Given the description of an element on the screen output the (x, y) to click on. 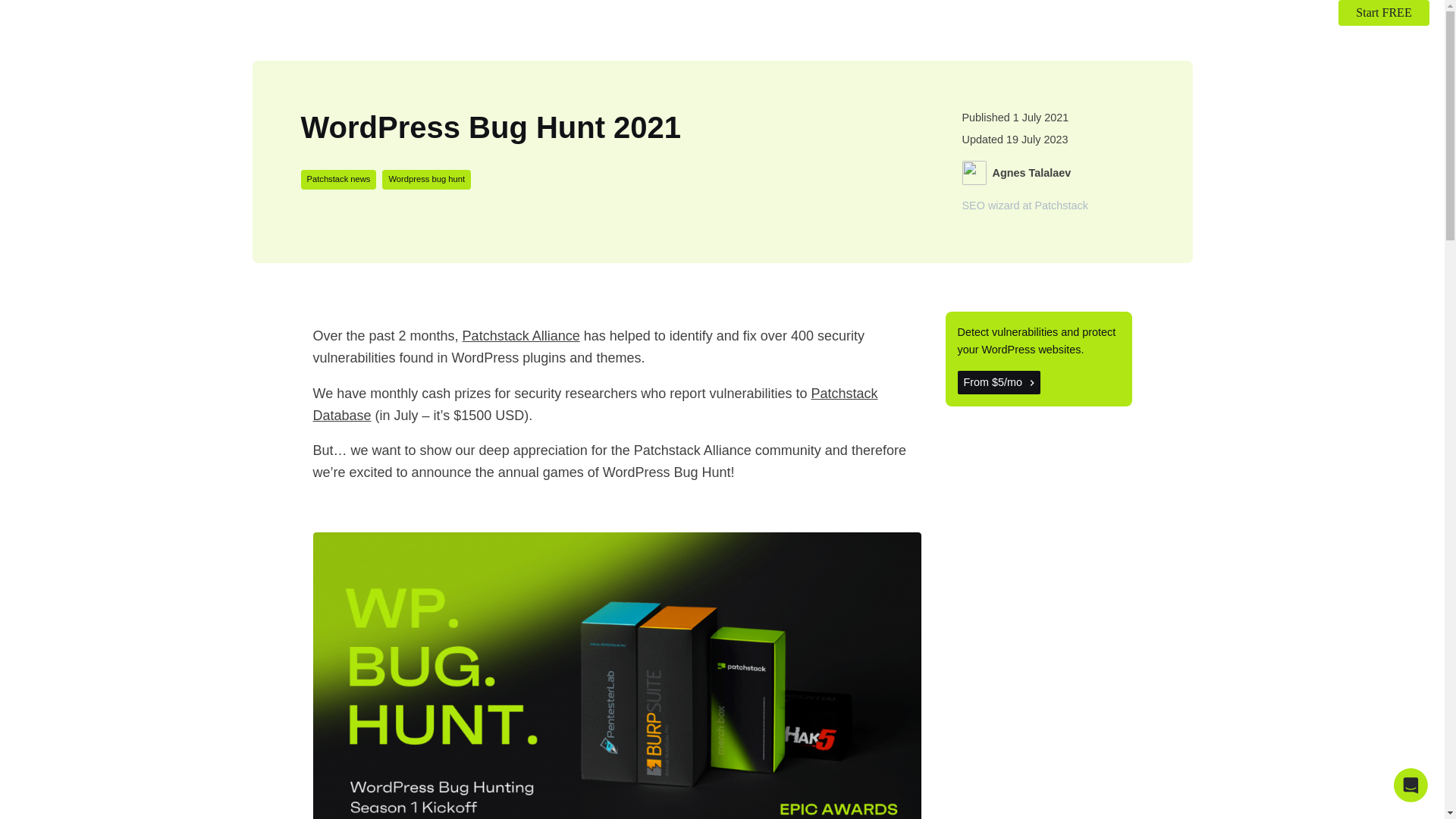
Patchstack Alliance (521, 335)
Patchstack Database (595, 404)
Agnes Talalaev (1030, 173)
Start FREE (1383, 12)
patchstack news (337, 179)
wordpress bug hunt (425, 179)
